Given the description of an element on the screen output the (x, y) to click on. 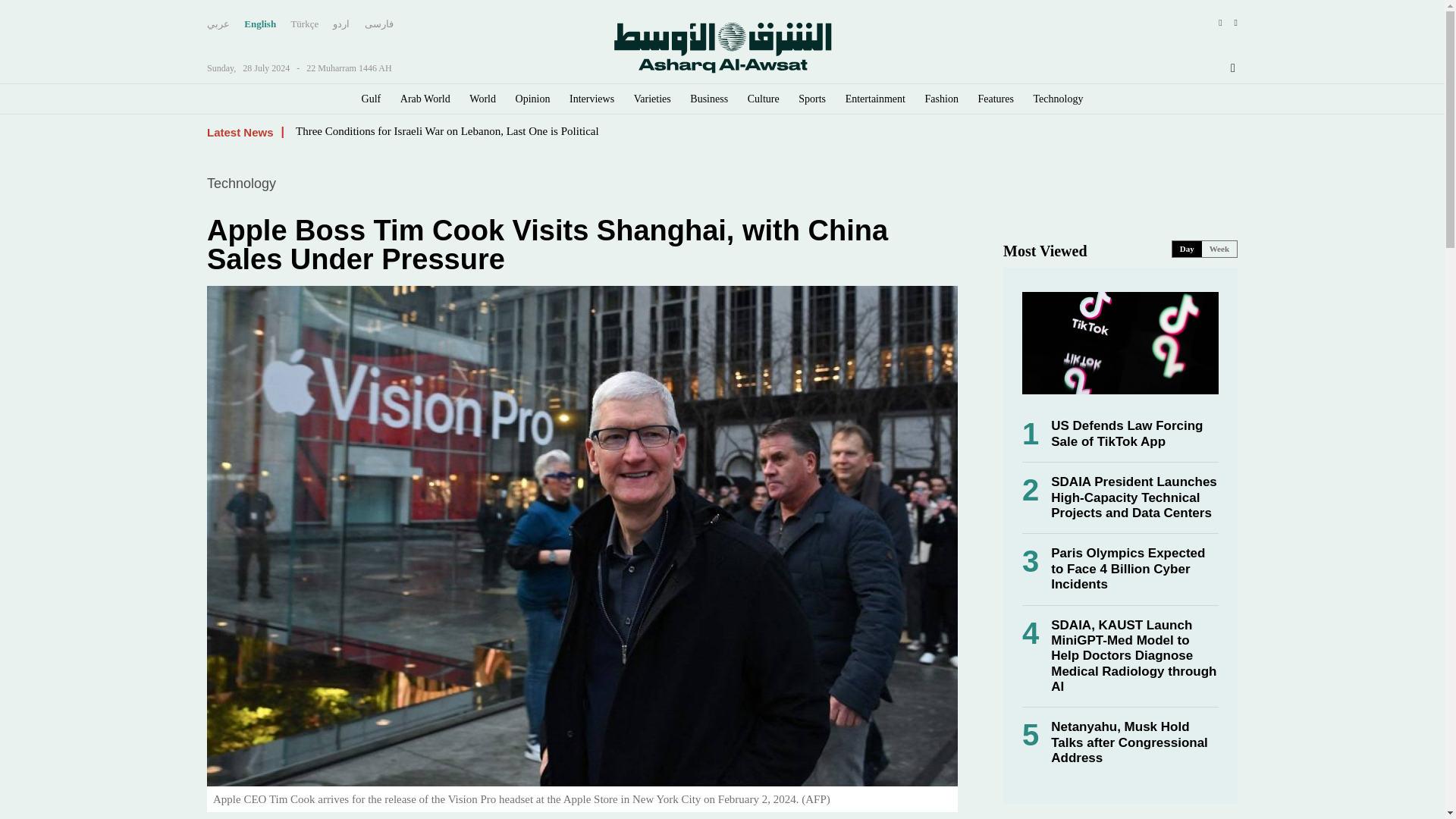
Fashion (941, 99)
Features (995, 99)
Business (709, 99)
Sports (811, 99)
Interviews (591, 99)
Opinion (532, 99)
Technology (1058, 99)
Varieties (652, 99)
English (260, 24)
Arab World (424, 99)
Culture (763, 99)
Entertainment (875, 99)
